Given the description of an element on the screen output the (x, y) to click on. 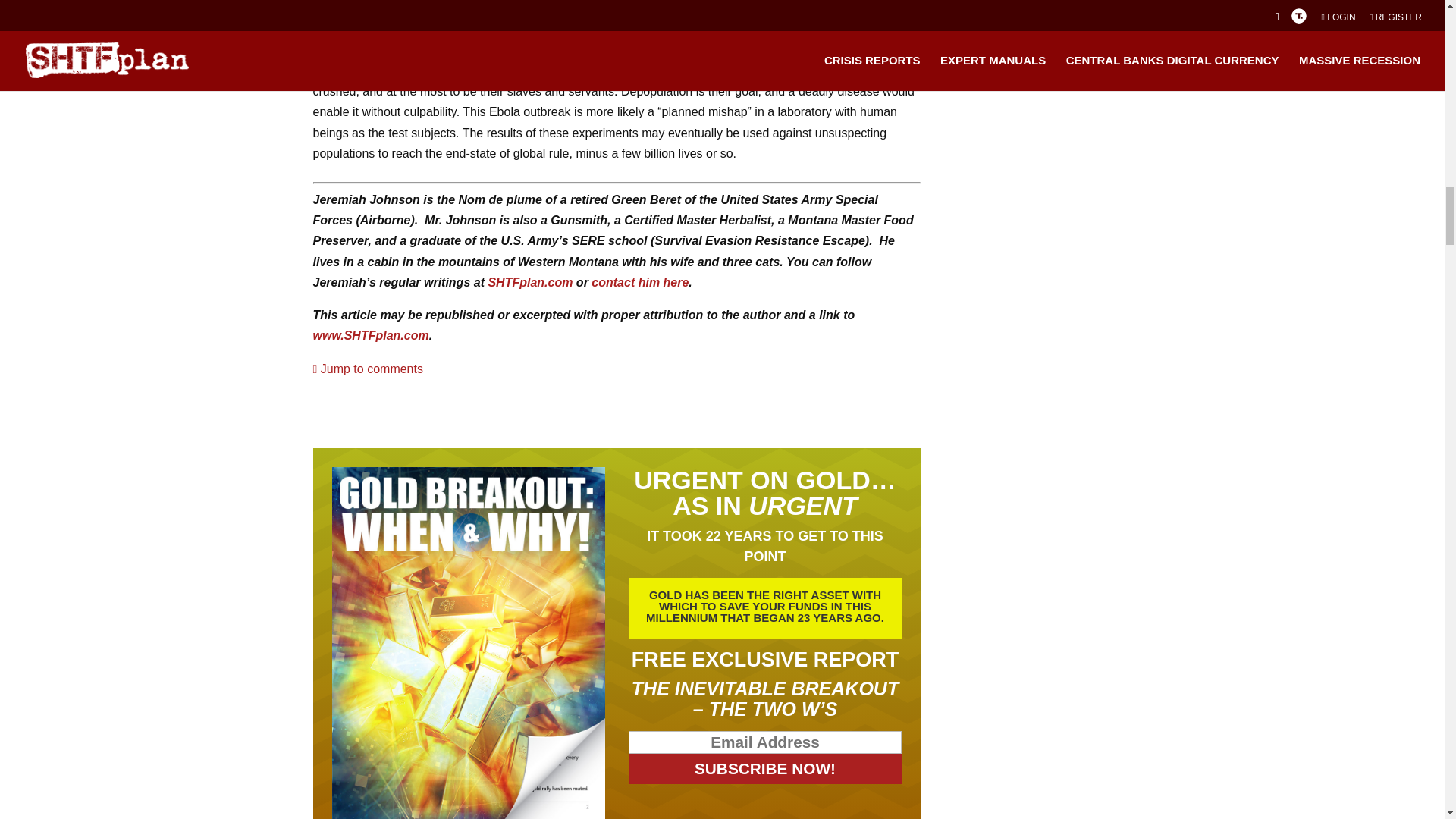
Subscribe Now! (765, 768)
www.SHTFplan.com (370, 335)
contact him here (639, 282)
SHTFplan.com (529, 282)
Jump to comments (367, 368)
Subscribe Now! (765, 768)
